Given the description of an element on the screen output the (x, y) to click on. 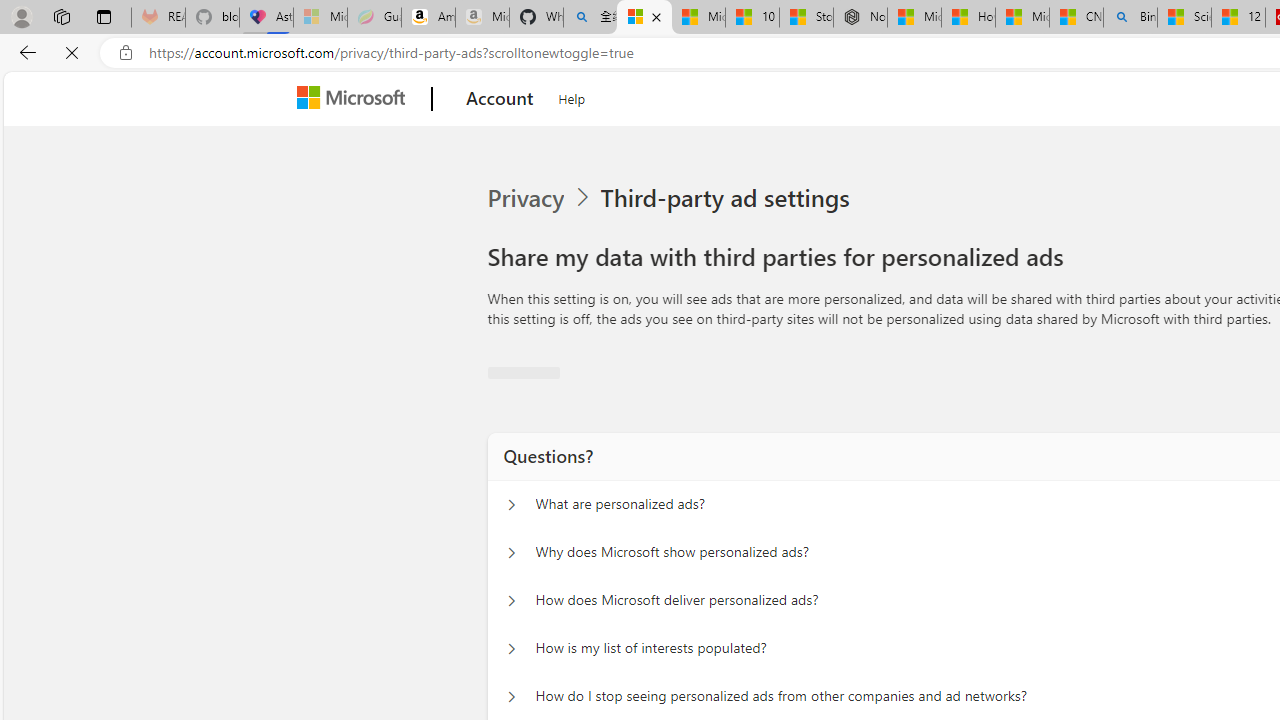
Microsoft (354, 99)
CNN - MSN (1076, 17)
12 Popular Science Lies that Must be Corrected (1238, 17)
